Given the description of an element on the screen output the (x, y) to click on. 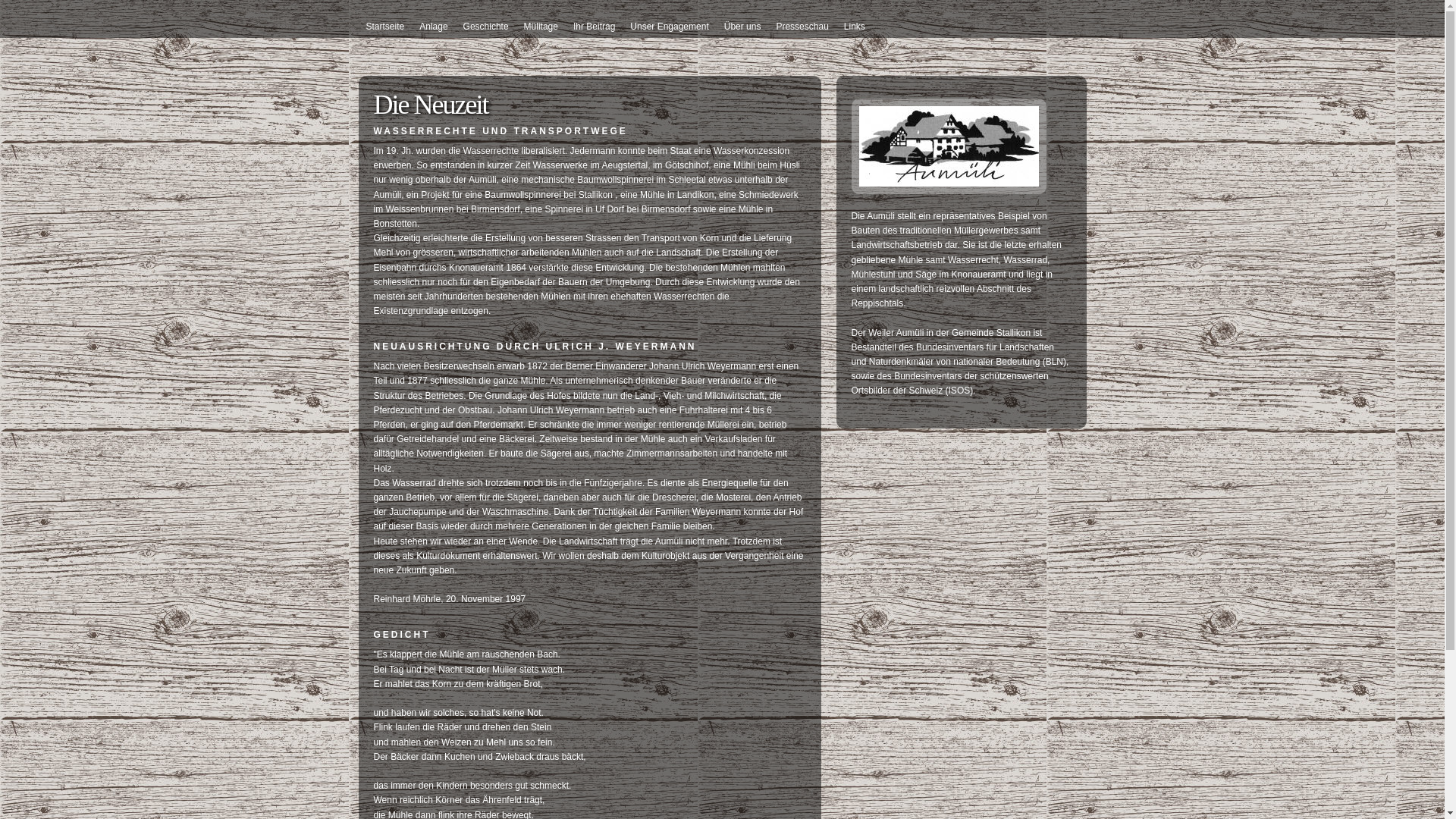
Presseschau Element type: text (801, 26)
Links Element type: text (854, 26)
Startseite Element type: text (384, 26)
Unser Engagement Element type: text (668, 26)
Ihr Beitrag Element type: text (593, 26)
Anlage Element type: text (433, 26)
Geschichte Element type: text (485, 26)
